Given the description of an element on the screen output the (x, y) to click on. 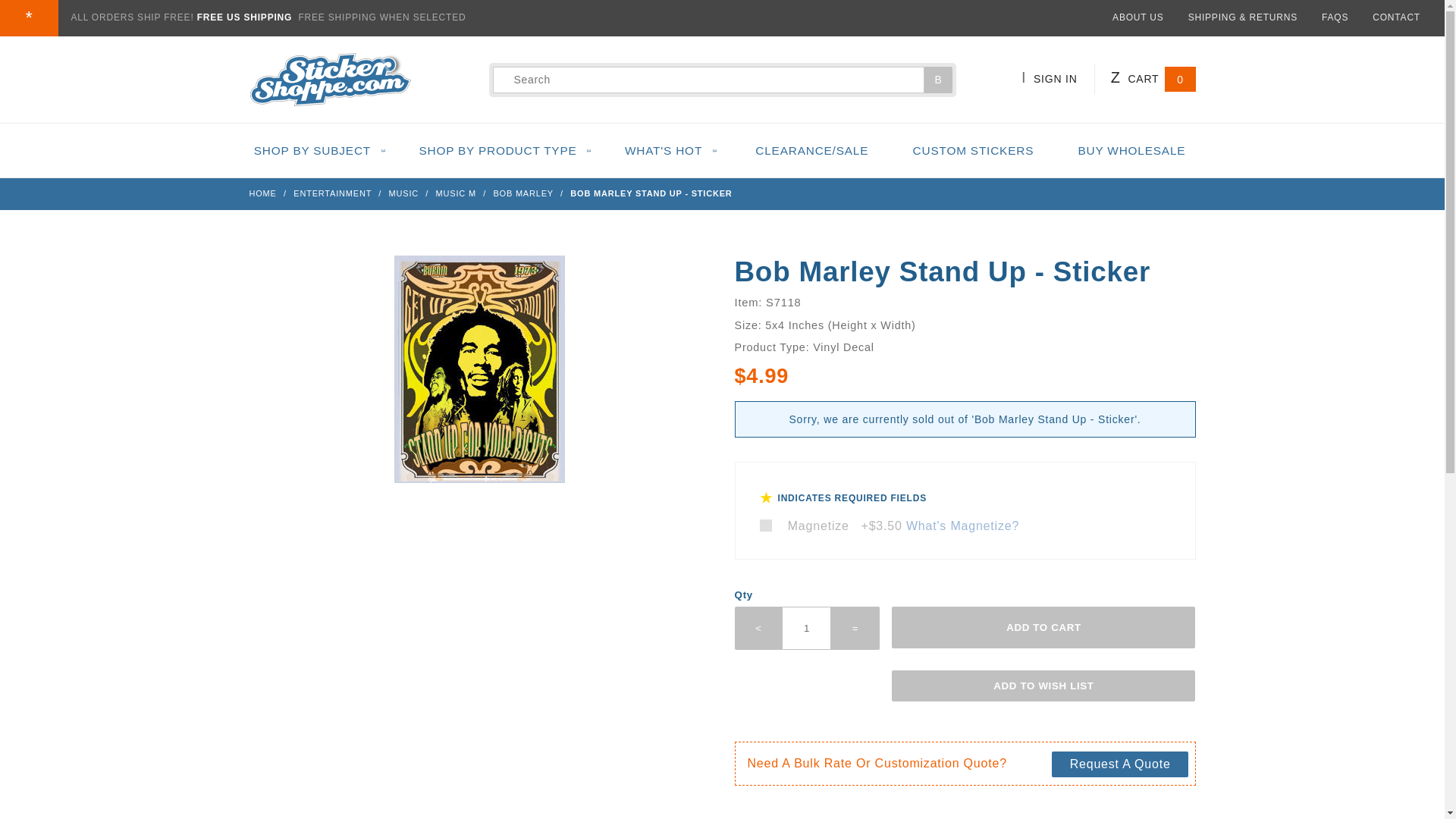
Bob Marley (524, 193)
Music M (457, 193)
The Sticker Shoppe (329, 79)
SHOP BY SUBJECT (318, 150)
SIGN IN (1058, 79)
Bob Marley Stand Up - Sticker (478, 377)
Add to Wish List (1043, 685)
Sign In (1071, 144)
CONTACT (1397, 17)
Entertainment (334, 193)
1 (807, 628)
Sticker Shoppe (329, 78)
FAQs (1335, 17)
ABOUT US (1137, 17)
